Given the description of an element on the screen output the (x, y) to click on. 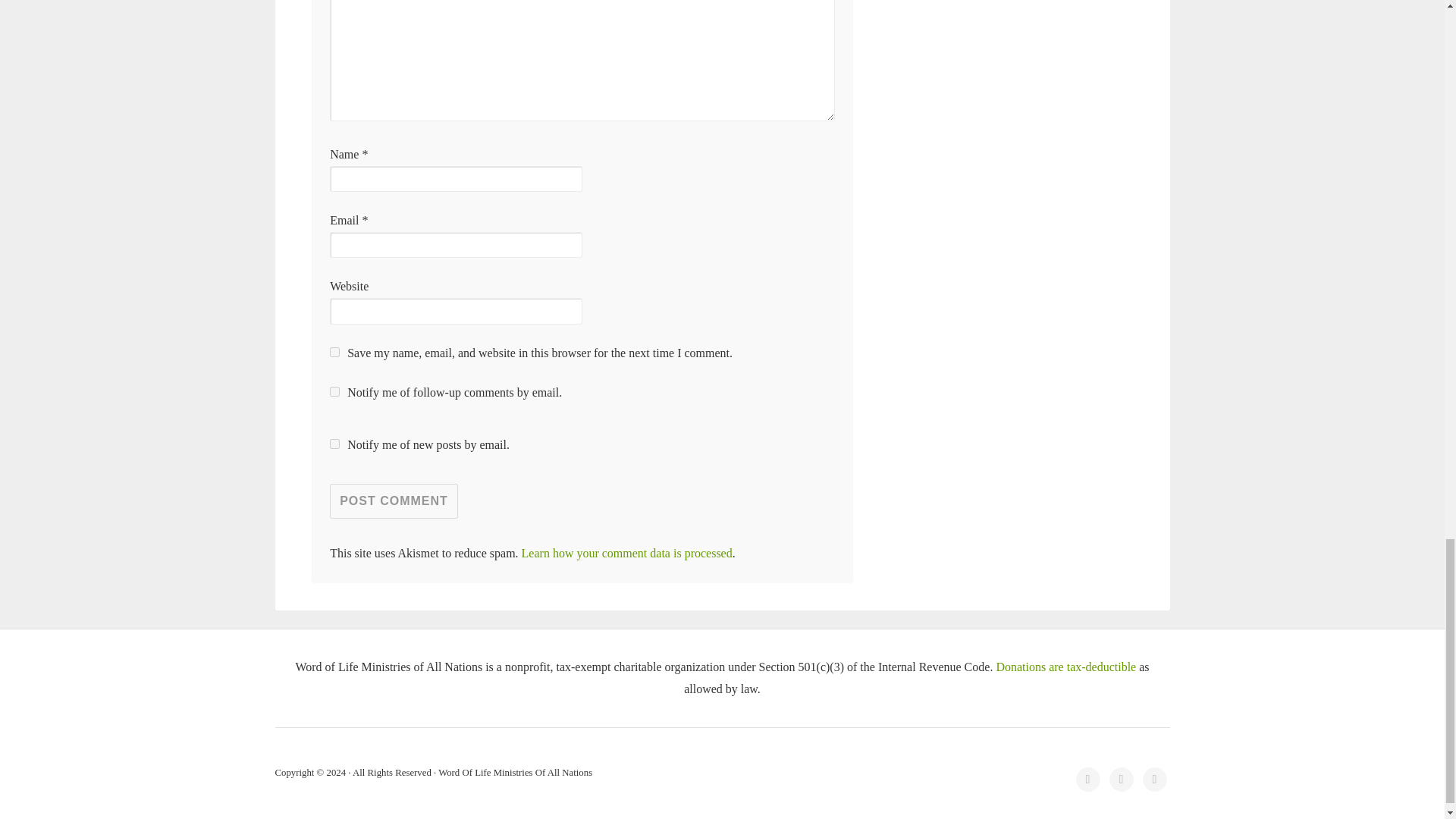
subscribe (334, 391)
Post Comment (394, 501)
Post Comment (394, 501)
subscribe (334, 443)
yes (334, 352)
Learn how your comment data is processed (626, 553)
